Given the description of an element on the screen output the (x, y) to click on. 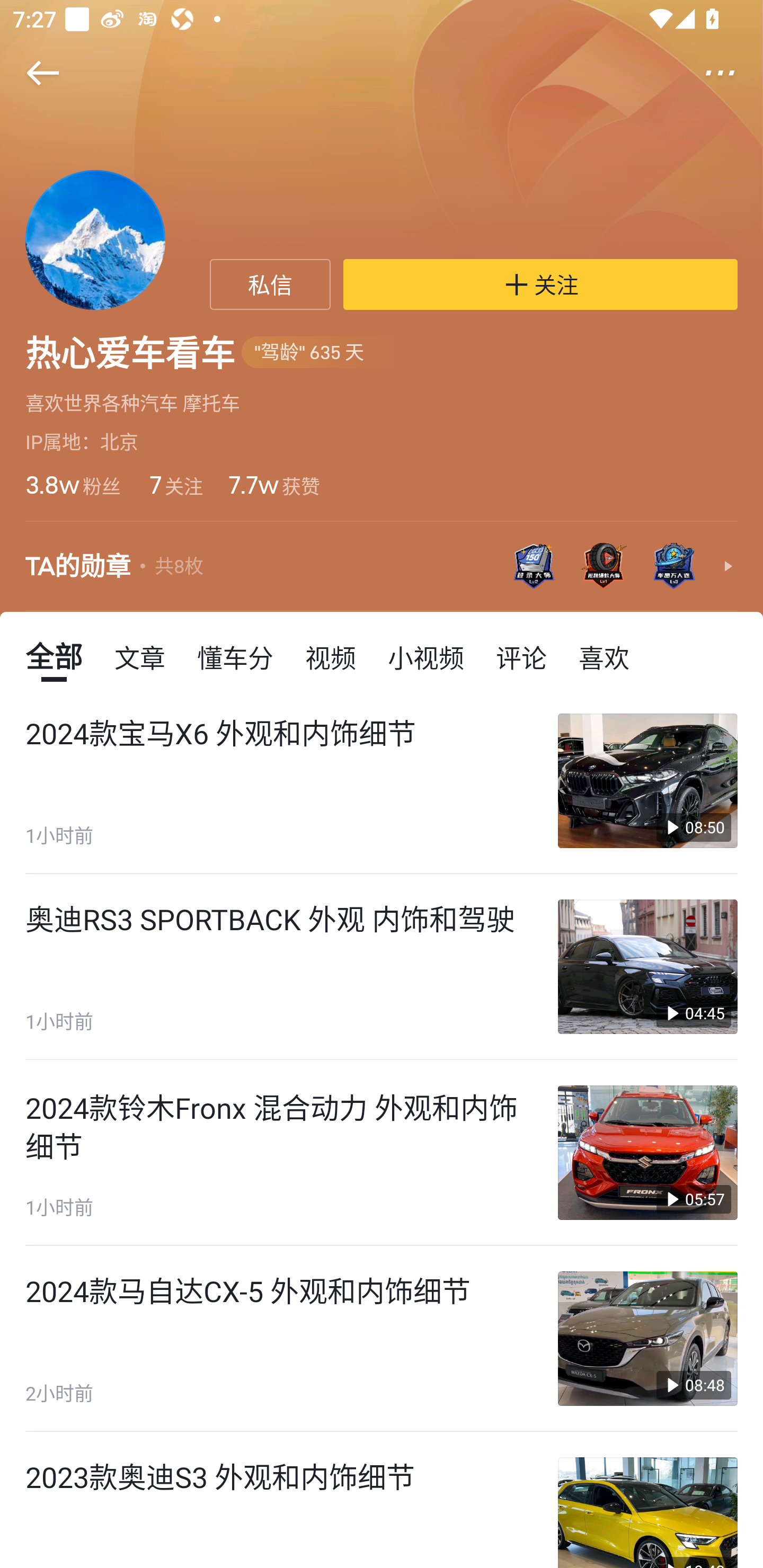
 (30, 72)
 (732, 72)
私信 (269, 284)
 关注 (540, 284)
"驾龄" 635 天 (318, 352)
3.8w 粉丝 (72, 484)
7 关注 (174, 484)
7.7w 获赞 (273, 484)
TA的勋章 共8枚  (381, 566)
全部 (53, 656)
文章 (139, 656)
懂车分 (234, 656)
视频 (330, 656)
小视频 (425, 656)
评论 (521, 656)
喜欢 (603, 656)
2024款宝马X6 外观和内饰细节 1小时前  08:50 (381, 780)
奥迪RS3 SPORTBACK 外观 内饰和驾驶 1小时前  04:45 (381, 966)
2024款铃木Fronx 混合动力 外观和内饰细节 1小时前  05:57 (381, 1152)
2024款马自达CX-5 外观和内饰细节 2小时前  08:48 (381, 1338)
2023款奥迪S3 外观和内饰细节 3小时前  10:40 (381, 1499)
